Given the description of an element on the screen output the (x, y) to click on. 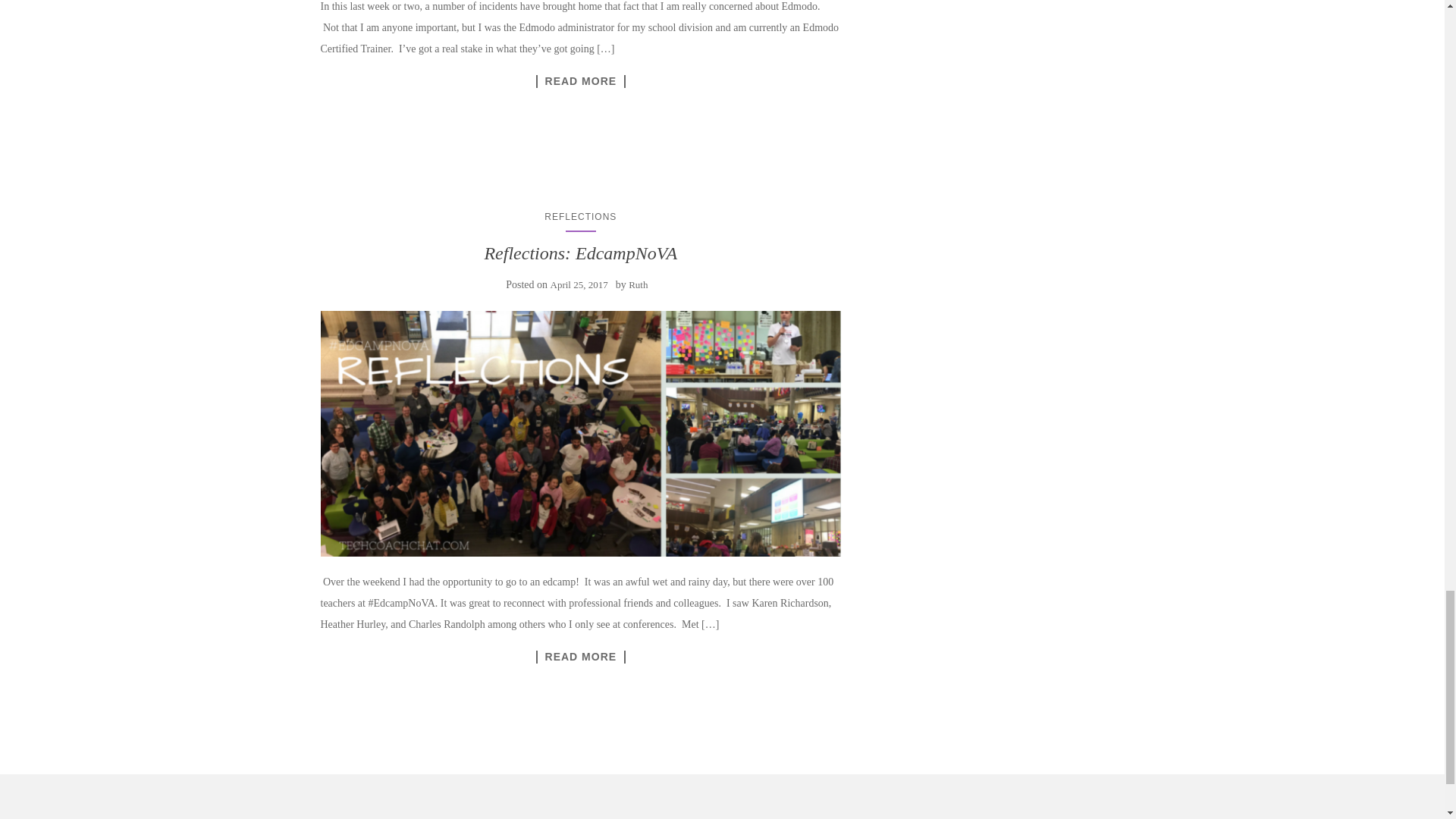
READ MORE (580, 81)
Ruth (637, 284)
Reflections: EdcampNoVA (580, 252)
April 25, 2017 (579, 284)
REFLECTIONS (579, 216)
Reflections: EdcampNoVA (580, 433)
READ MORE (580, 656)
Is Edmodo in trouble? (580, 81)
Reflections: EdcampNoVA (580, 656)
